Given the description of an element on the screen output the (x, y) to click on. 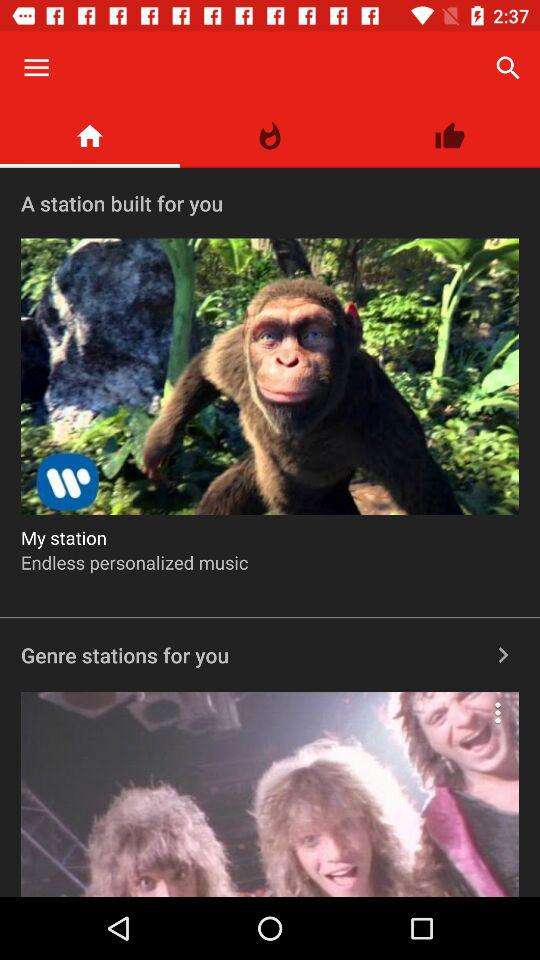
open the item above a station built item (90, 136)
